Given the description of an element on the screen output the (x, y) to click on. 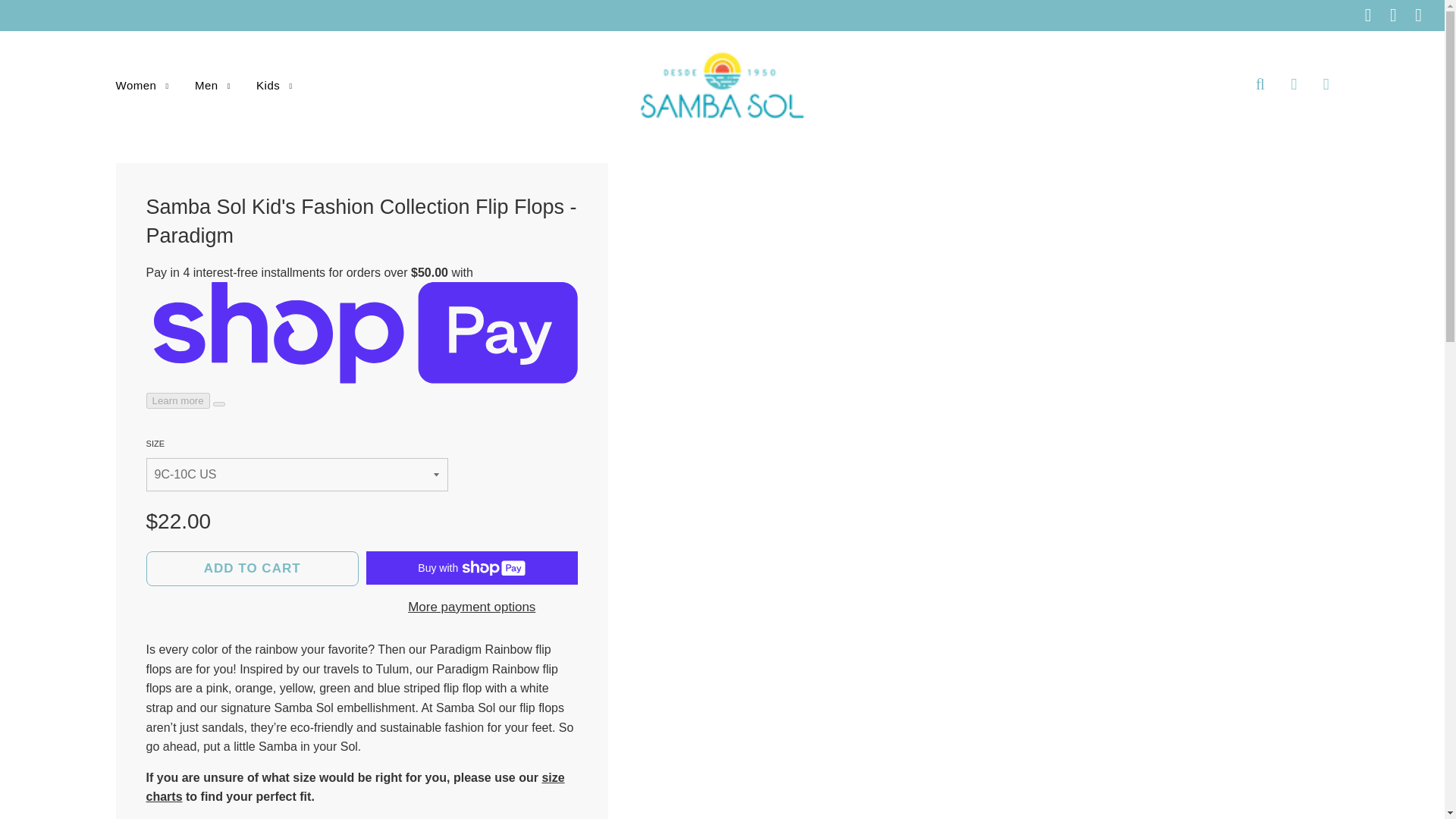
Kids (268, 84)
Men (212, 84)
Women (142, 84)
